Given the description of an element on the screen output the (x, y) to click on. 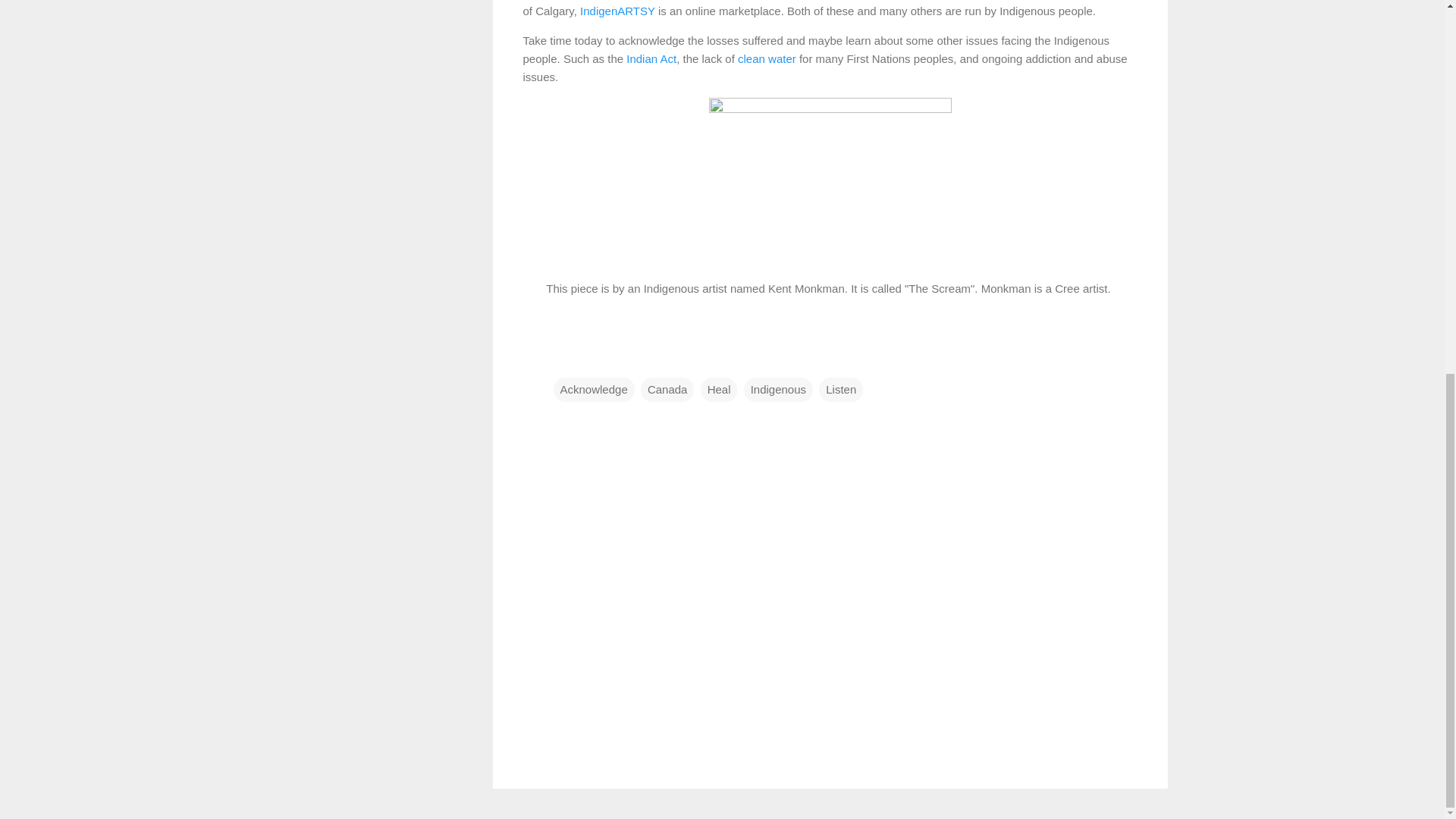
Acknowledge (593, 388)
clean water (767, 58)
Indian Act (651, 58)
Listen (840, 388)
Canada (667, 388)
Heal (719, 388)
IndigenARTSY (617, 10)
Indigenous (778, 388)
